Given the description of an element on the screen output the (x, y) to click on. 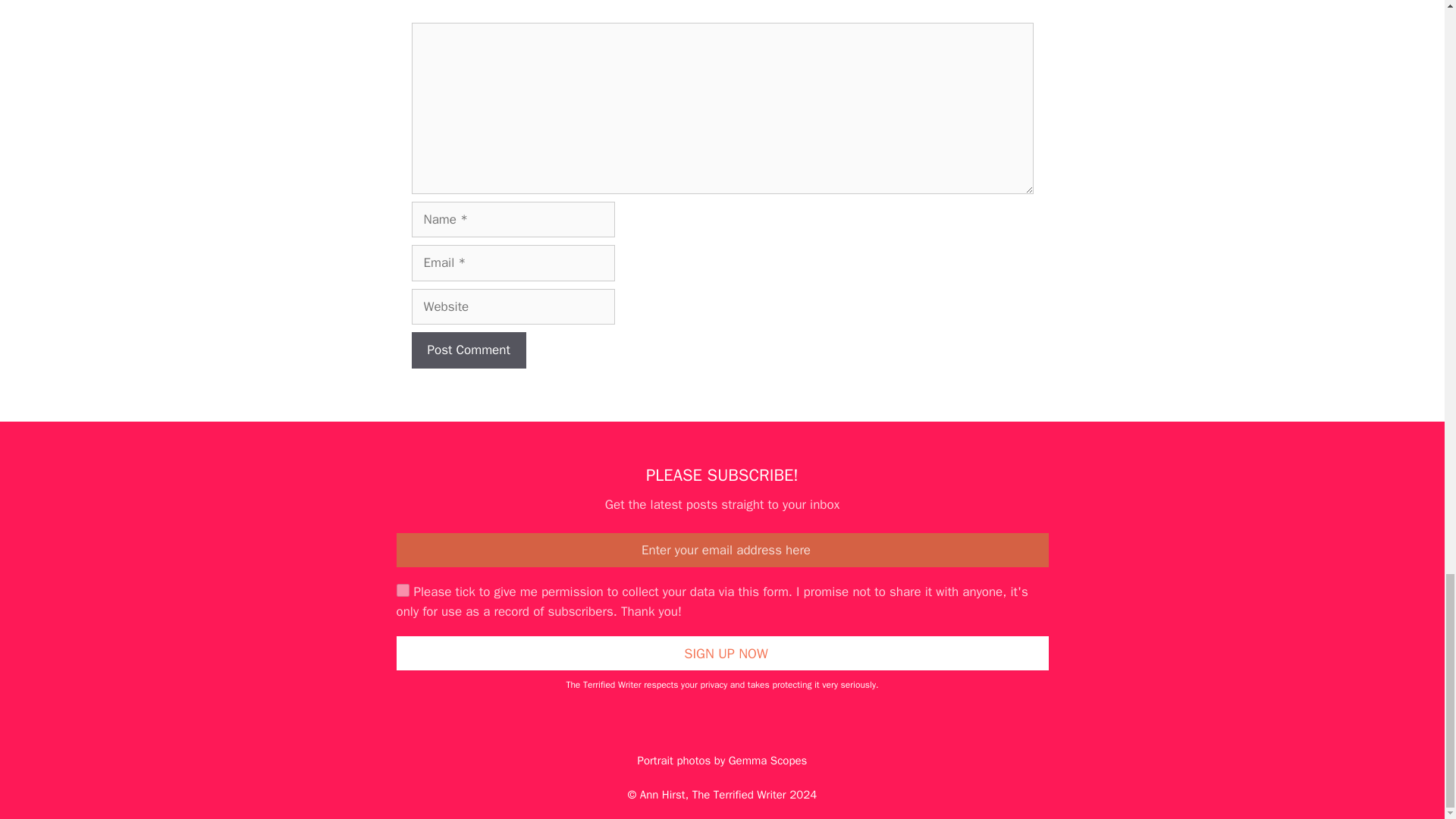
Sign Up Now (722, 653)
Gemma Scopes (768, 760)
Post Comment (467, 350)
Sign Up Now (722, 653)
Post Comment (467, 350)
on (402, 590)
